Given the description of an element on the screen output the (x, y) to click on. 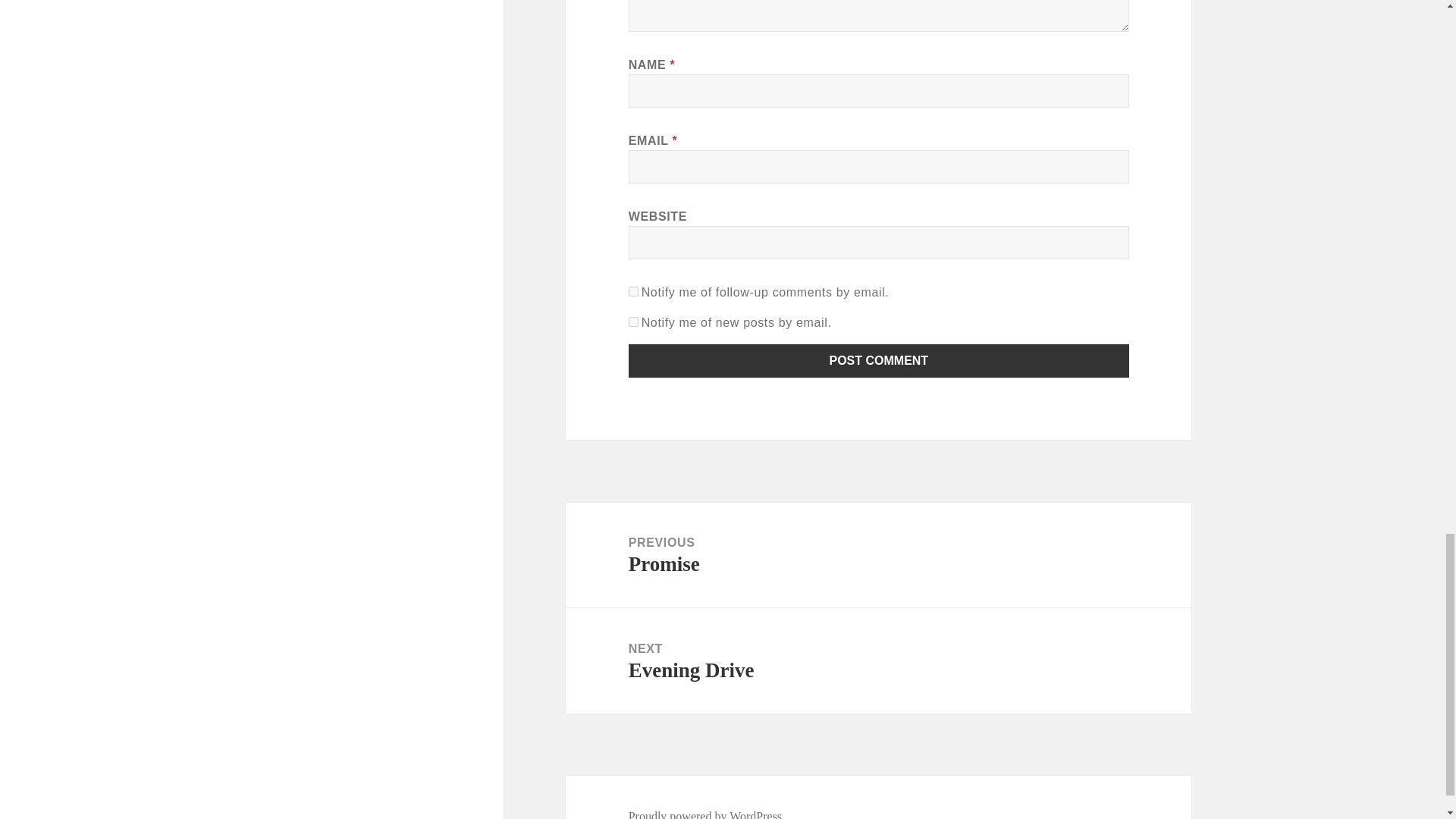
subscribe (633, 321)
subscribe (633, 291)
Post Comment (878, 360)
Post Comment (878, 555)
Proudly powered by WordPress (878, 360)
